Given the description of an element on the screen output the (x, y) to click on. 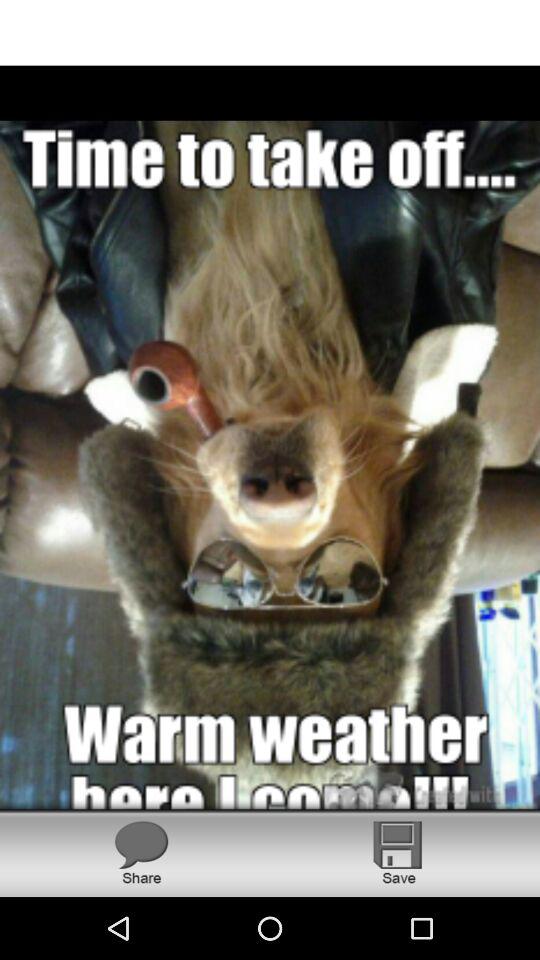
click to save (398, 852)
